Given the description of an element on the screen output the (x, y) to click on. 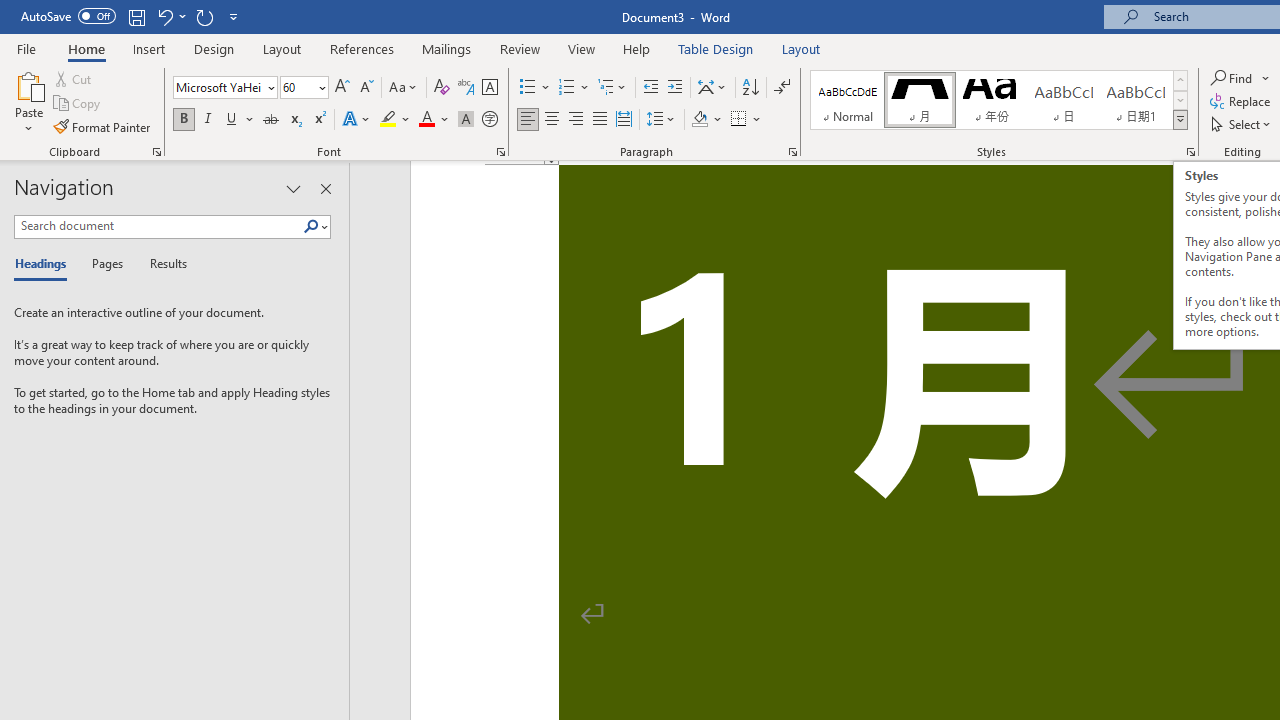
Table Design (715, 48)
Find (1233, 78)
System (10, 11)
Borders (739, 119)
Open (320, 87)
Paragraph... (792, 151)
Quick Access Toolbar (131, 16)
Font Size (297, 87)
Search (315, 227)
Styles... (1190, 151)
Copy (78, 103)
Center (552, 119)
Cut (73, 78)
